Given the description of an element on the screen output the (x, y) to click on. 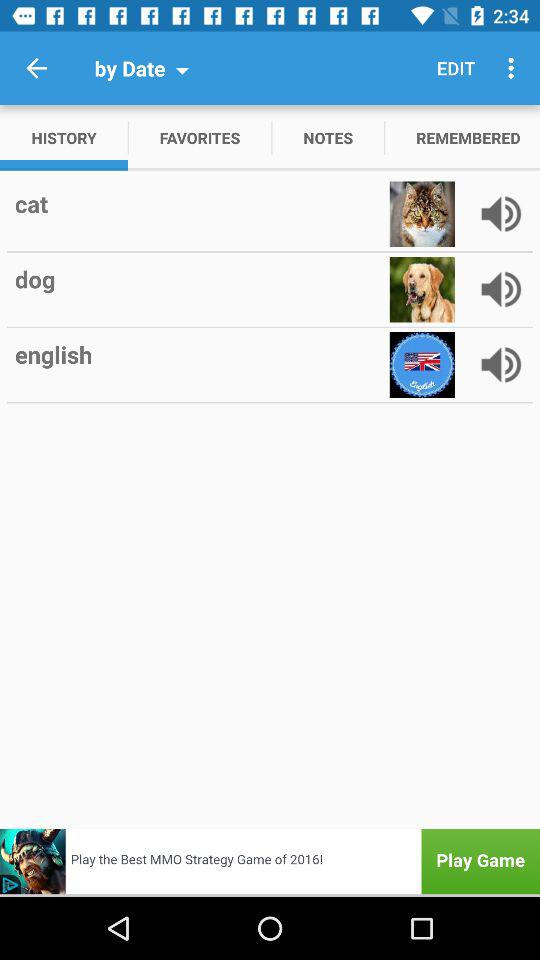
turn off the app next to remembered item (327, 137)
